Given the description of an element on the screen output the (x, y) to click on. 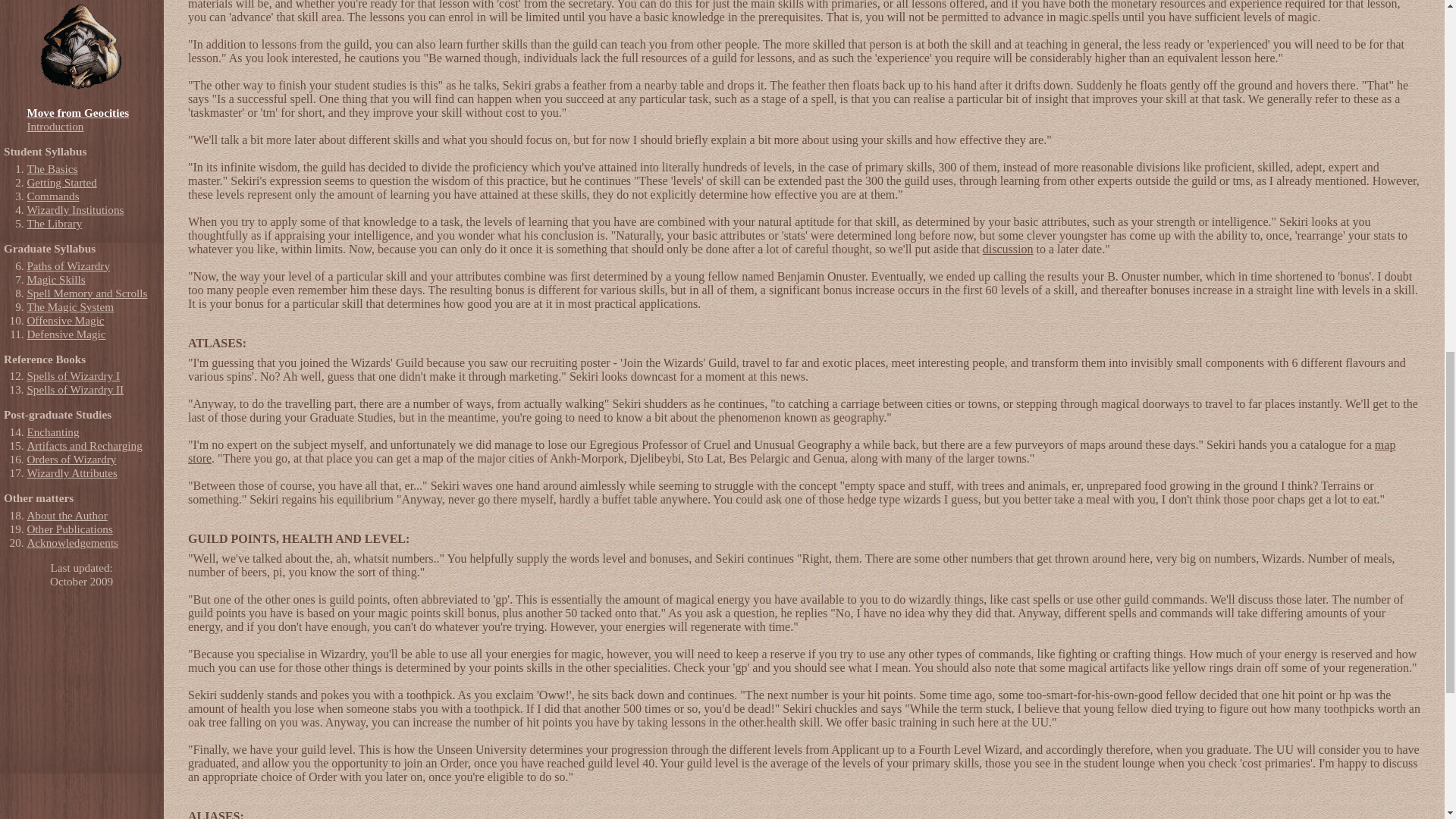
discussion (1007, 248)
GUILD POINTS, HEALTH AND LEVEL: (298, 538)
map store (790, 451)
ALIASES: (215, 814)
ATLASES: (216, 342)
